Given the description of an element on the screen output the (x, y) to click on. 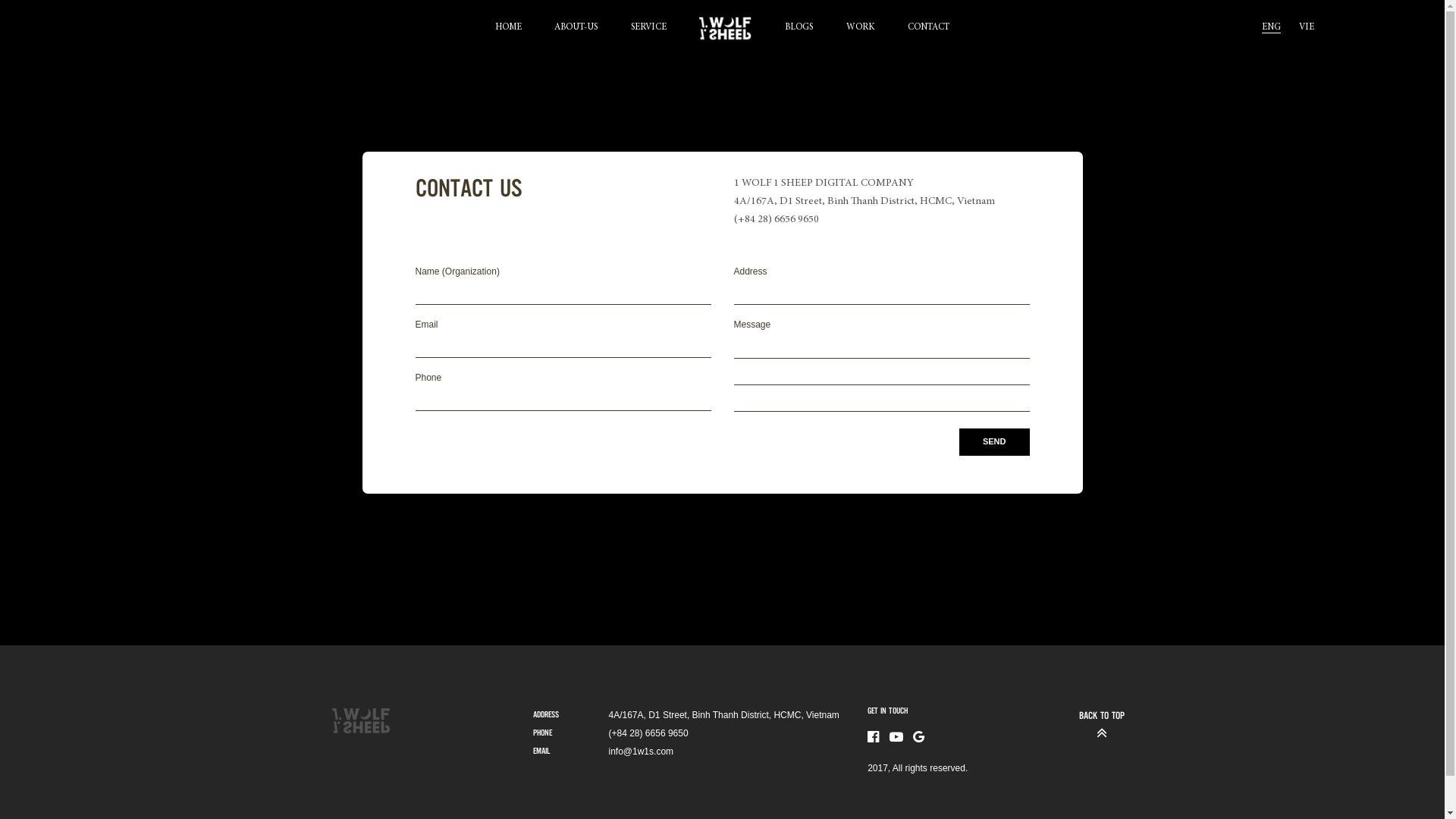
ABOUT-US Element type: text (575, 28)
WORK Element type: text (860, 28)
Send Element type: text (994, 441)
BLOGS Element type: text (798, 28)
HOME Element type: text (508, 28)
VIE Element type: text (1306, 28)
info@1w1s.com Element type: text (640, 751)
ENG Element type: text (1270, 24)
SERVICE Element type: text (648, 28)
CONTACT Element type: text (928, 28)
